Given the description of an element on the screen output the (x, y) to click on. 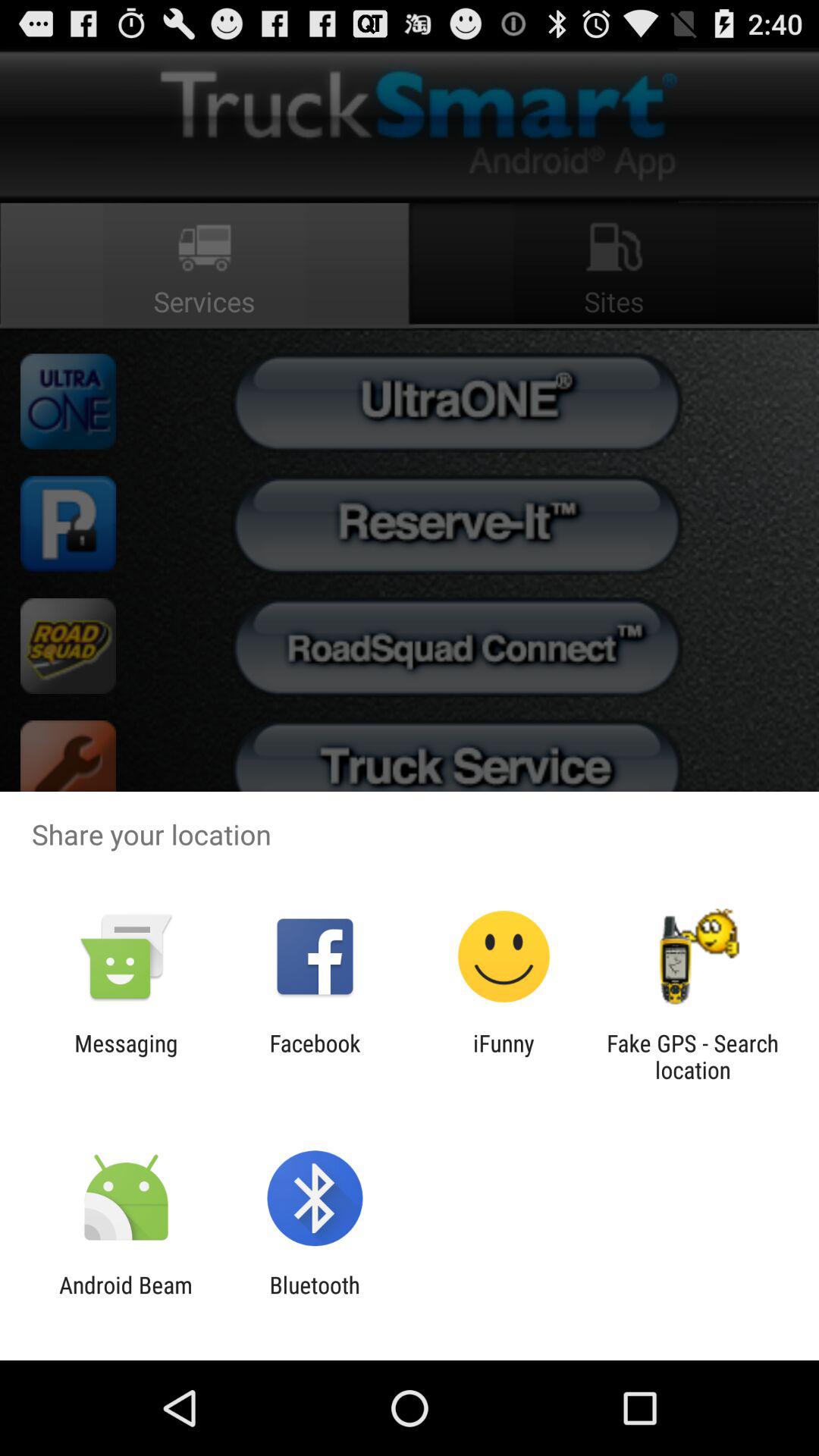
choose app to the right of messaging icon (314, 1056)
